Given the description of an element on the screen output the (x, y) to click on. 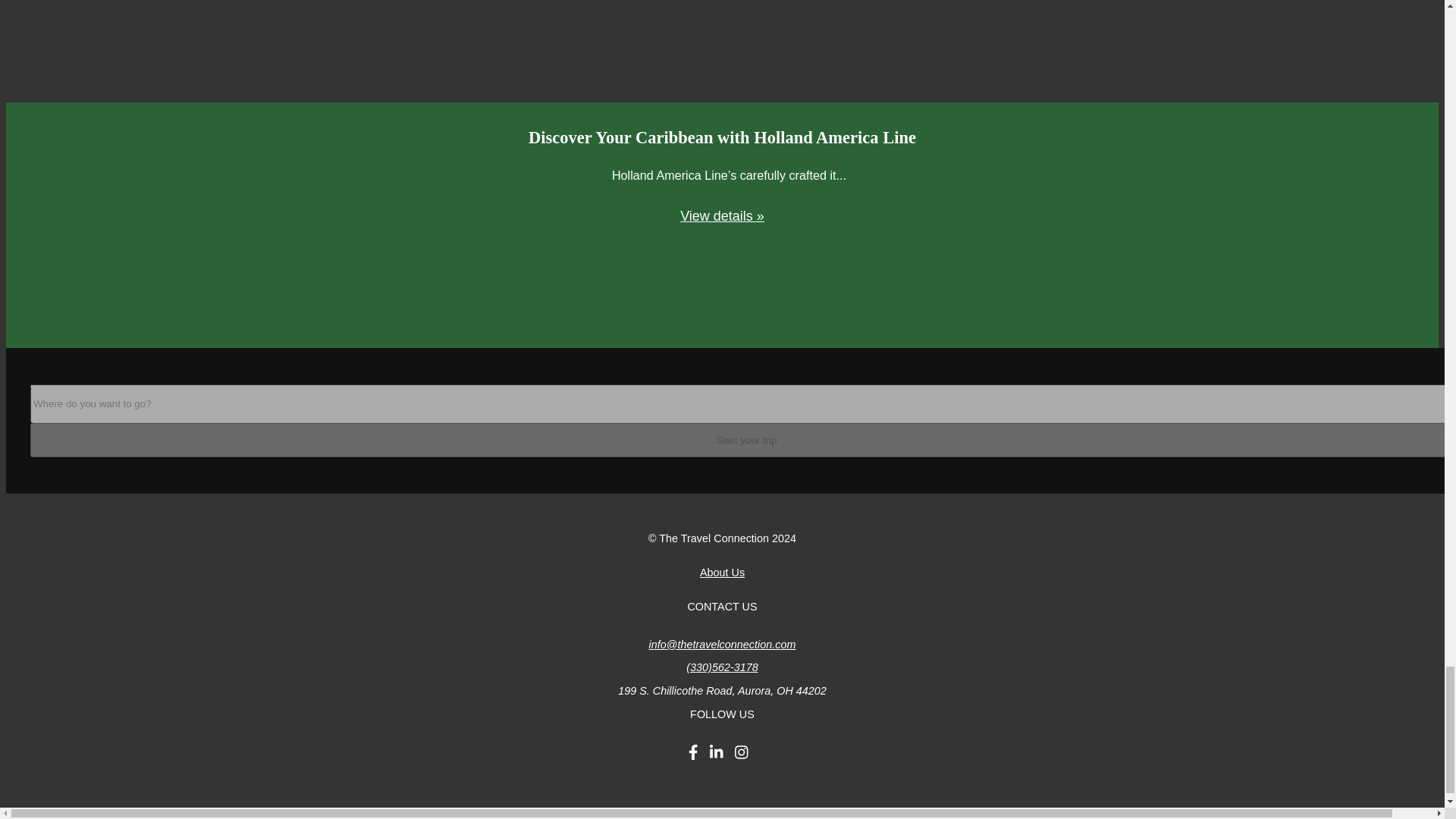
Start your trip (743, 440)
About Us (722, 572)
